Given the description of an element on the screen output the (x, y) to click on. 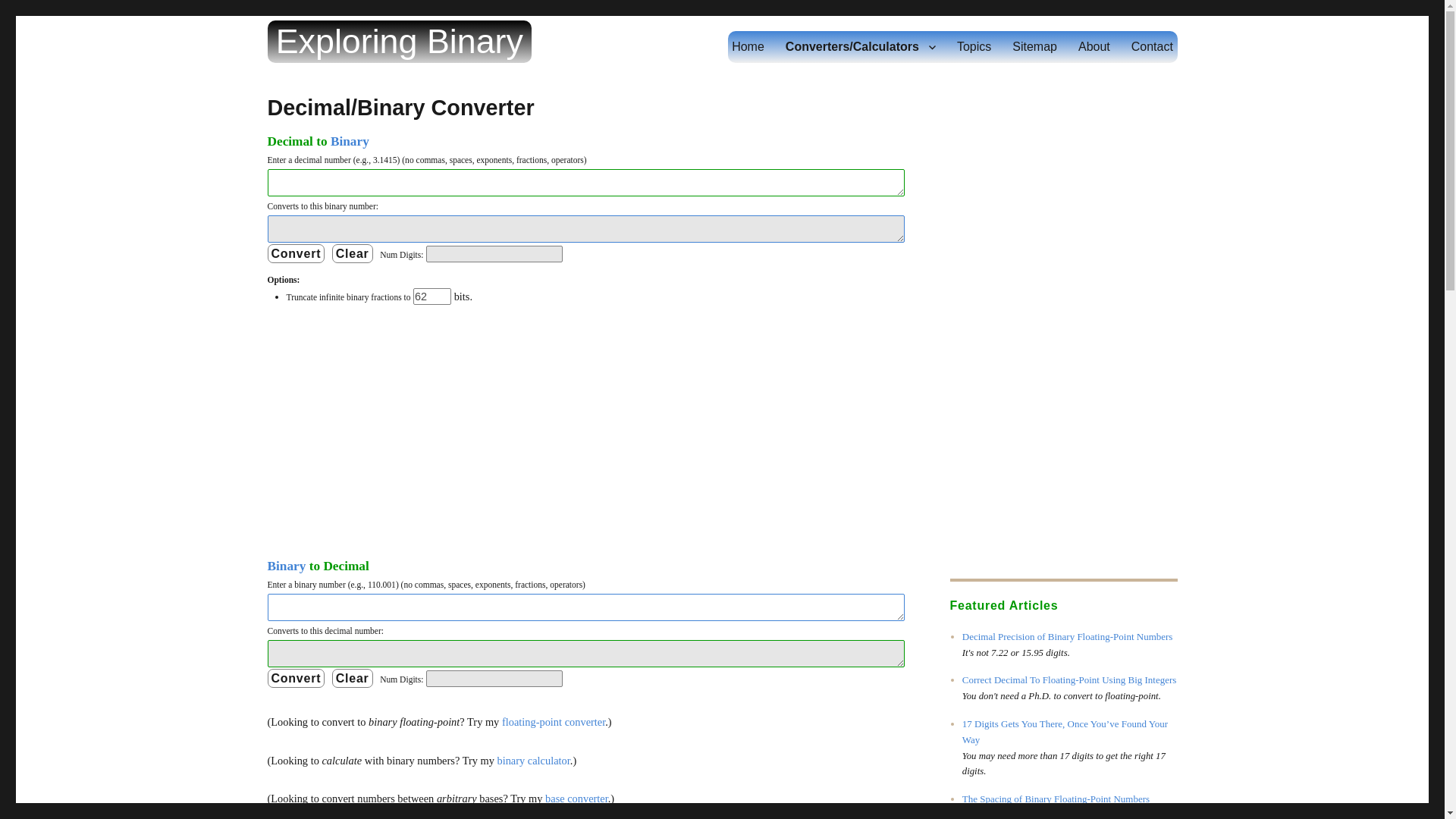
Home (747, 47)
Sitemap (1034, 47)
Clear (351, 678)
Decimal Precision of Binary Floating-Point Numbers (1067, 636)
Exploring Binary (399, 40)
Convert (295, 678)
floating-point converter (553, 721)
Clear (351, 678)
Convert (295, 253)
